Given the description of an element on the screen output the (x, y) to click on. 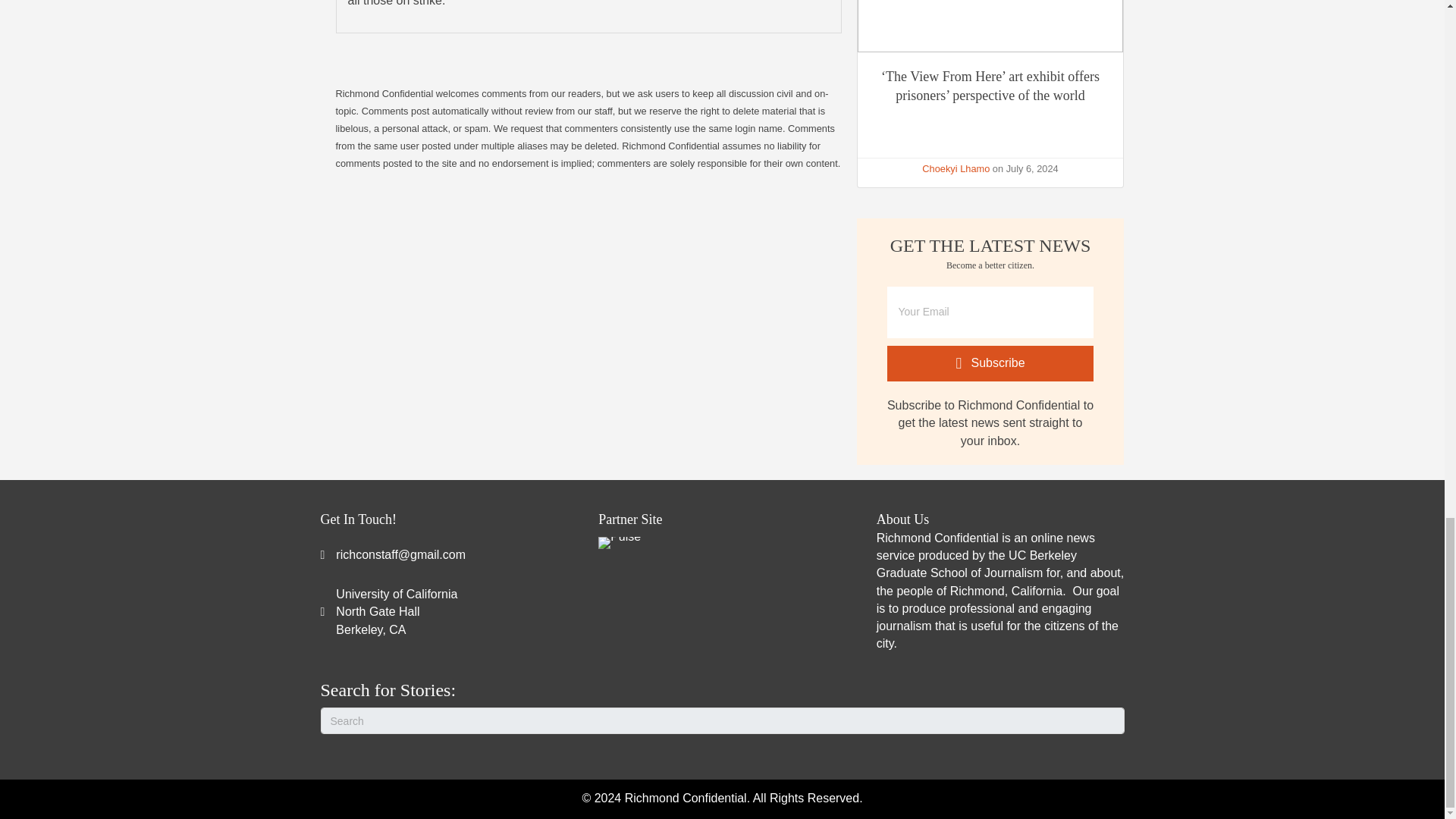
Subscribe (990, 363)
Click Here (990, 363)
Choekyi Lhamo (396, 611)
Pulse (955, 168)
Type and press Enter to search. (619, 542)
